Given the description of an element on the screen output the (x, y) to click on. 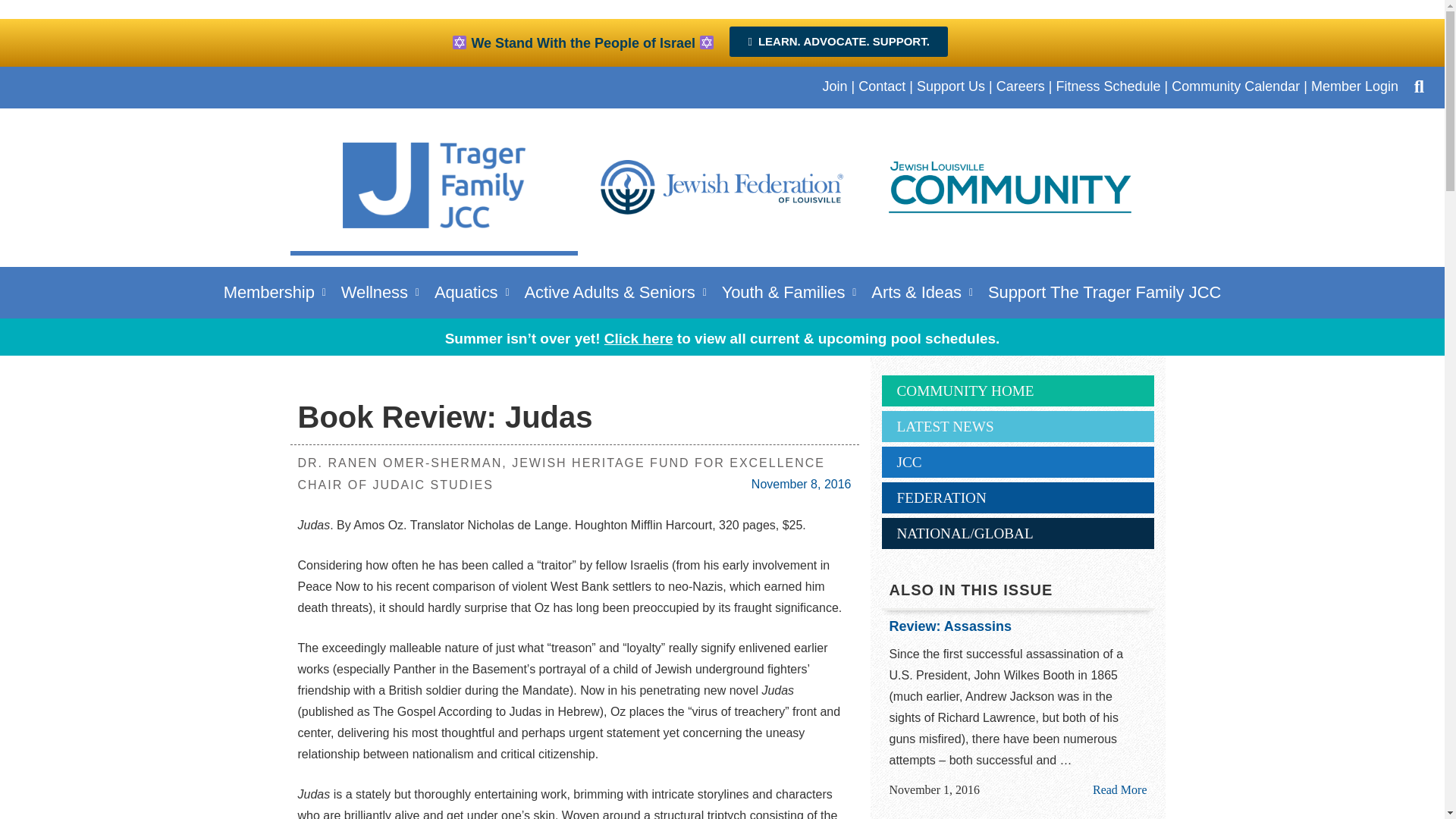
Careers (1020, 86)
Community Calendar (1236, 86)
Review: Assassins (1120, 789)
Contact (882, 86)
5:28 pm (933, 789)
LEARN. ADVOCATE. SUPPORT. (838, 41)
12:11 pm (801, 484)
Join (834, 86)
Membership (274, 292)
Fitness Schedule (1107, 86)
